Given the description of an element on the screen output the (x, y) to click on. 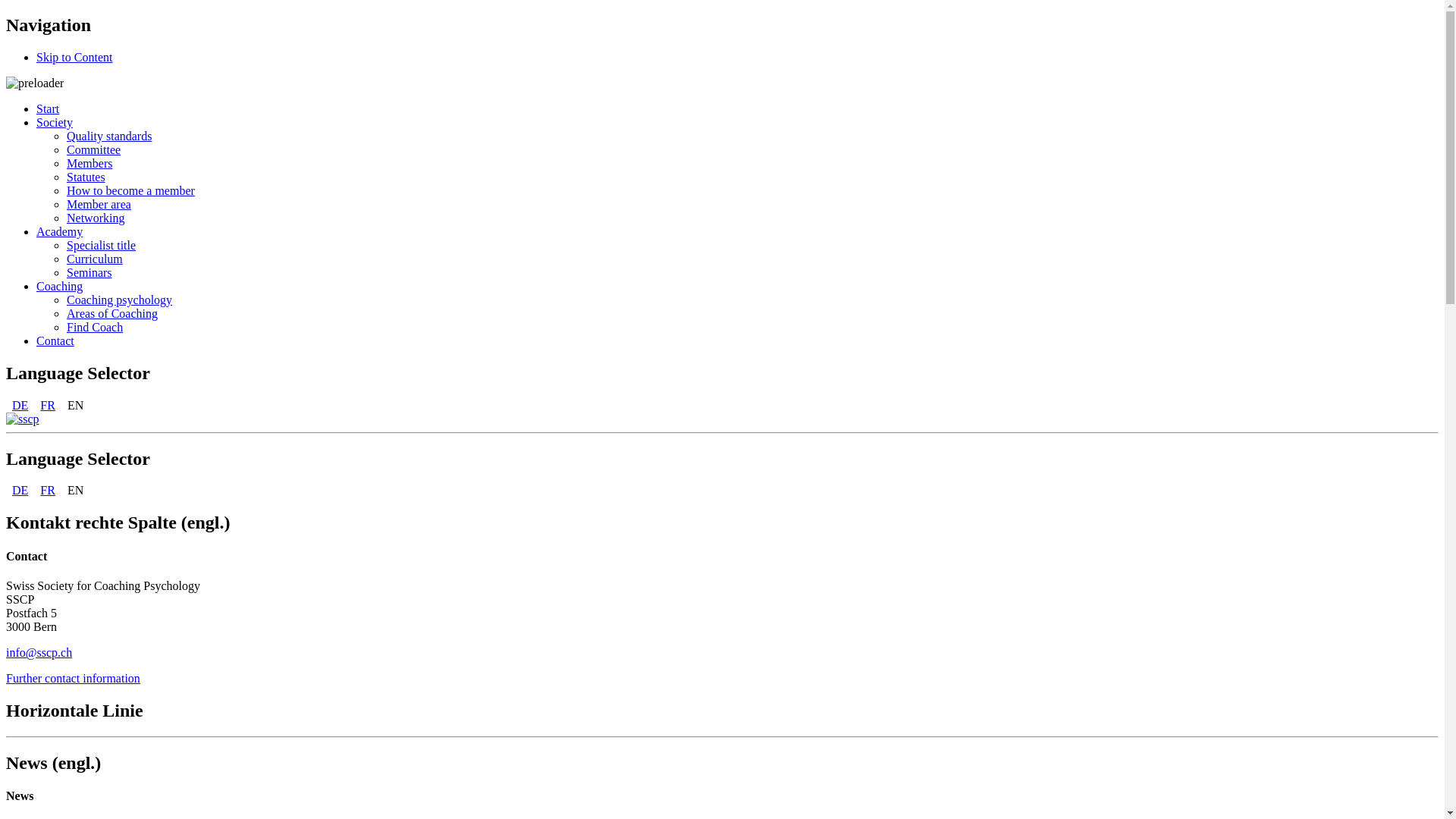
Start Element type: text (47, 108)
info@sscp.ch Element type: text (39, 652)
FR Element type: text (47, 489)
Society Element type: text (54, 122)
DE Element type: text (20, 489)
Go to sscp Element type: hover (22, 418)
Contact Element type: text (55, 340)
Seminars Element type: text (89, 272)
Further contact information Element type: text (73, 677)
Academy Element type: text (59, 231)
Curriculum Element type: text (94, 258)
How to become a member Element type: text (130, 190)
FR Element type: text (47, 404)
Find Coach Element type: text (94, 326)
Member area Element type: text (98, 203)
Members Element type: text (89, 162)
Specialist title Element type: text (100, 244)
Skip to Content Element type: text (74, 56)
Networking Element type: text (95, 217)
Coaching psychology Element type: text (119, 299)
Areas of Coaching Element type: text (111, 313)
DE Element type: text (20, 404)
Quality standards Element type: text (108, 135)
Coaching Element type: text (59, 285)
Statutes Element type: text (85, 176)
Committee Element type: text (93, 149)
